Given the description of an element on the screen output the (x, y) to click on. 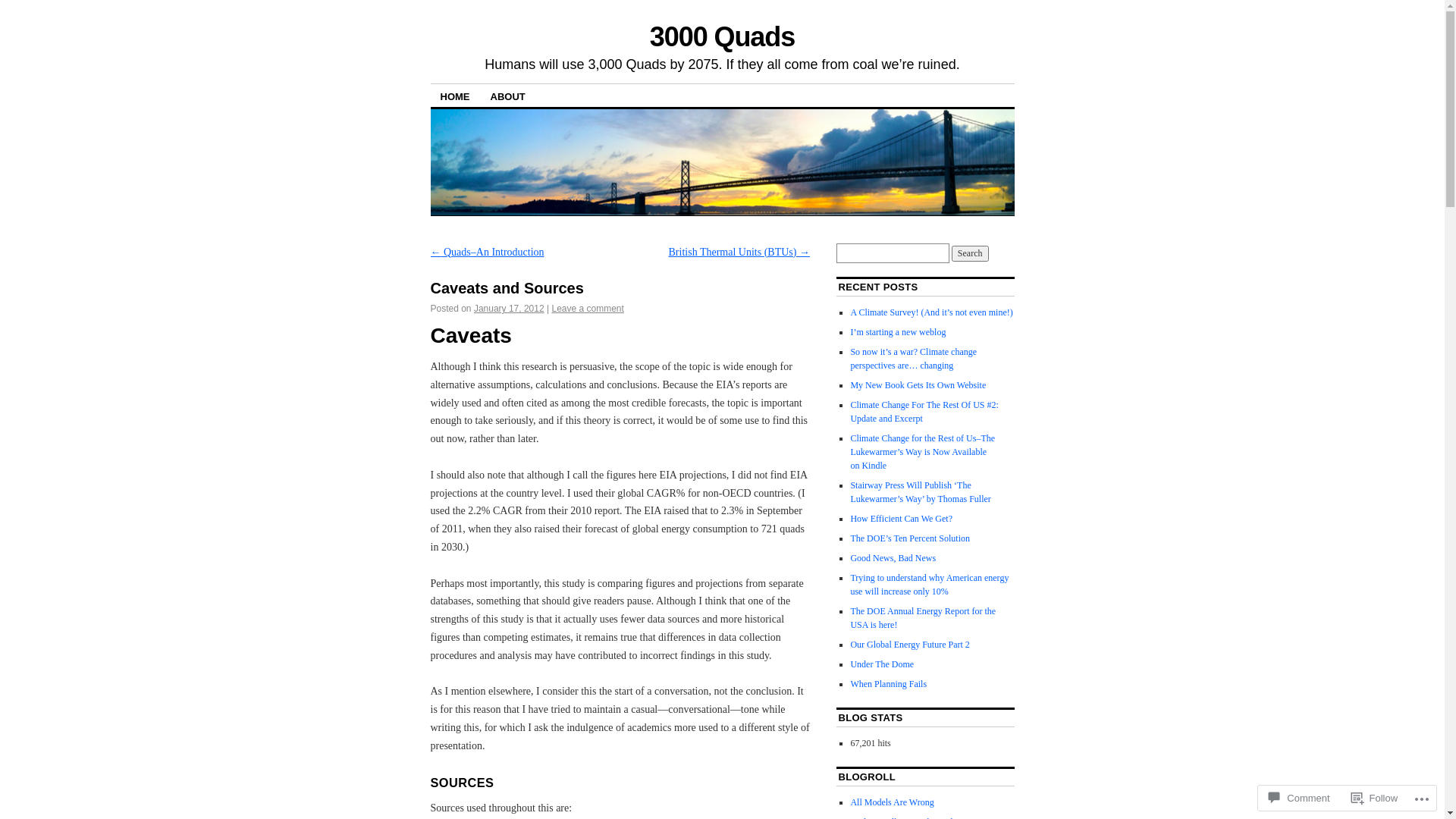
How Efficient Can We Get? Element type: text (901, 518)
When Planning Fails Element type: text (888, 683)
My New Book Gets Its Own Website Element type: text (917, 384)
Leave a comment Element type: text (587, 308)
3000 Quads Element type: text (721, 36)
January 17, 2012 Element type: text (508, 308)
Follow Element type: text (1374, 797)
Good News, Bad News Element type: text (892, 557)
Under The Dome Element type: text (881, 663)
All Models Are Wrong Element type: text (891, 802)
HOME Element type: text (455, 95)
ABOUT Element type: text (507, 95)
Search Element type: text (969, 253)
The DOE Annual Energy Report for the USA is here! Element type: text (922, 617)
Our Global Energy Future Part 2 Element type: text (909, 644)
Comment Element type: text (1298, 797)
Climate Change For The Rest Of US #2: Update and Excerpt Element type: text (923, 411)
